Given the description of an element on the screen output the (x, y) to click on. 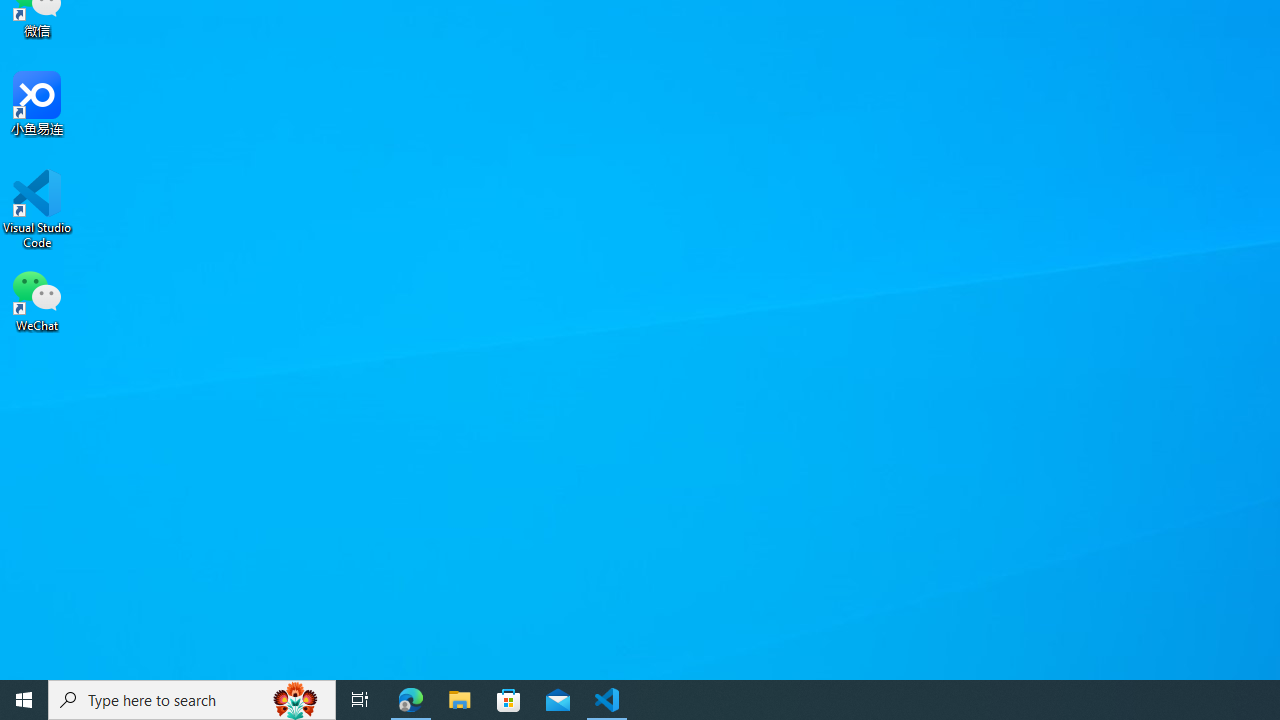
Microsoft Edge - 1 running window (411, 699)
Visual Studio Code (37, 209)
WeChat (37, 299)
